Given the description of an element on the screen output the (x, y) to click on. 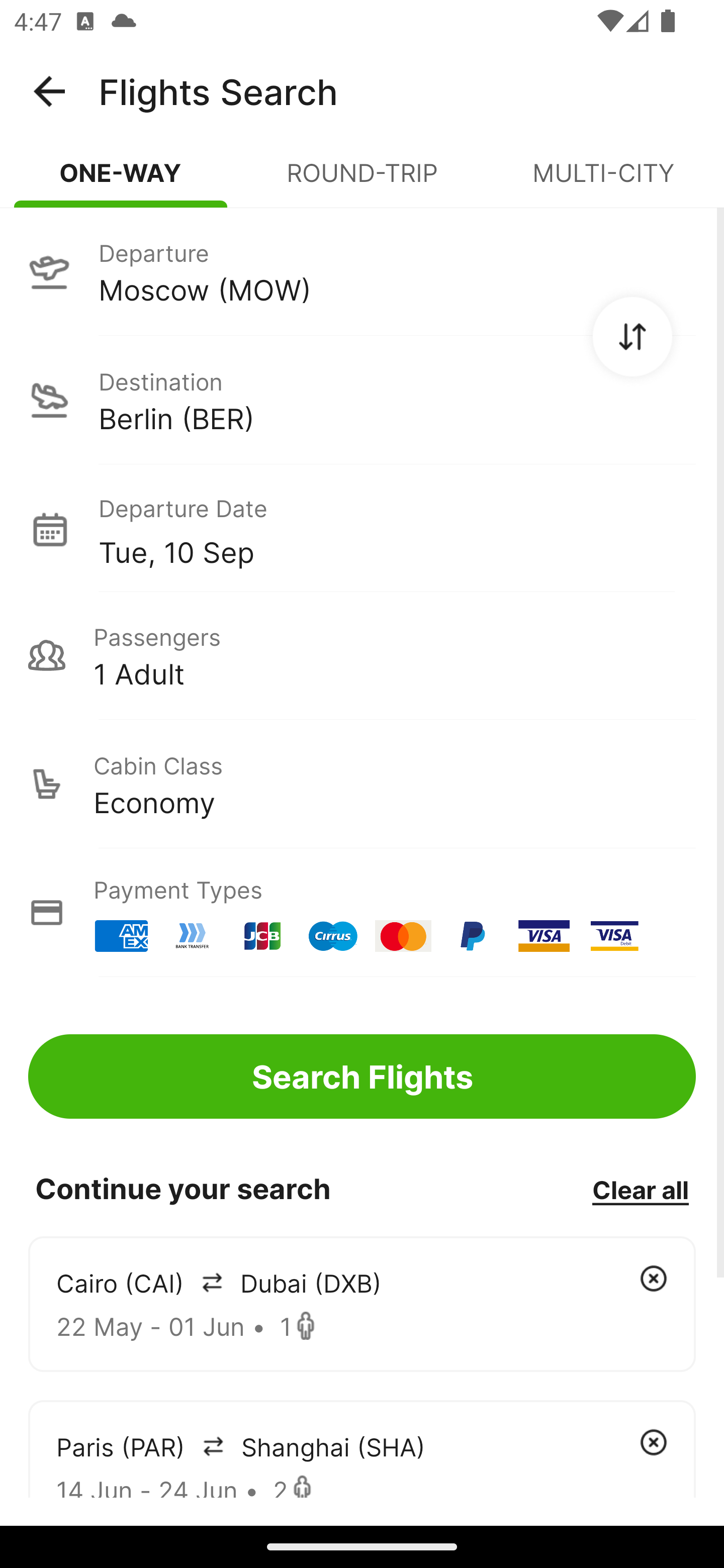
ONE-WAY (120, 180)
ROUND-TRIP (361, 180)
MULTI-CITY (603, 180)
Departure Moscow (MOW) (362, 270)
Destination Berlin (BER) (362, 400)
Departure Date Tue, 10 Sep (396, 528)
Passengers 1 Adult (362, 655)
Cabin Class Economy (362, 783)
Payment Types (362, 912)
Search Flights (361, 1075)
Clear all (640, 1189)
